Given the description of an element on the screen output the (x, y) to click on. 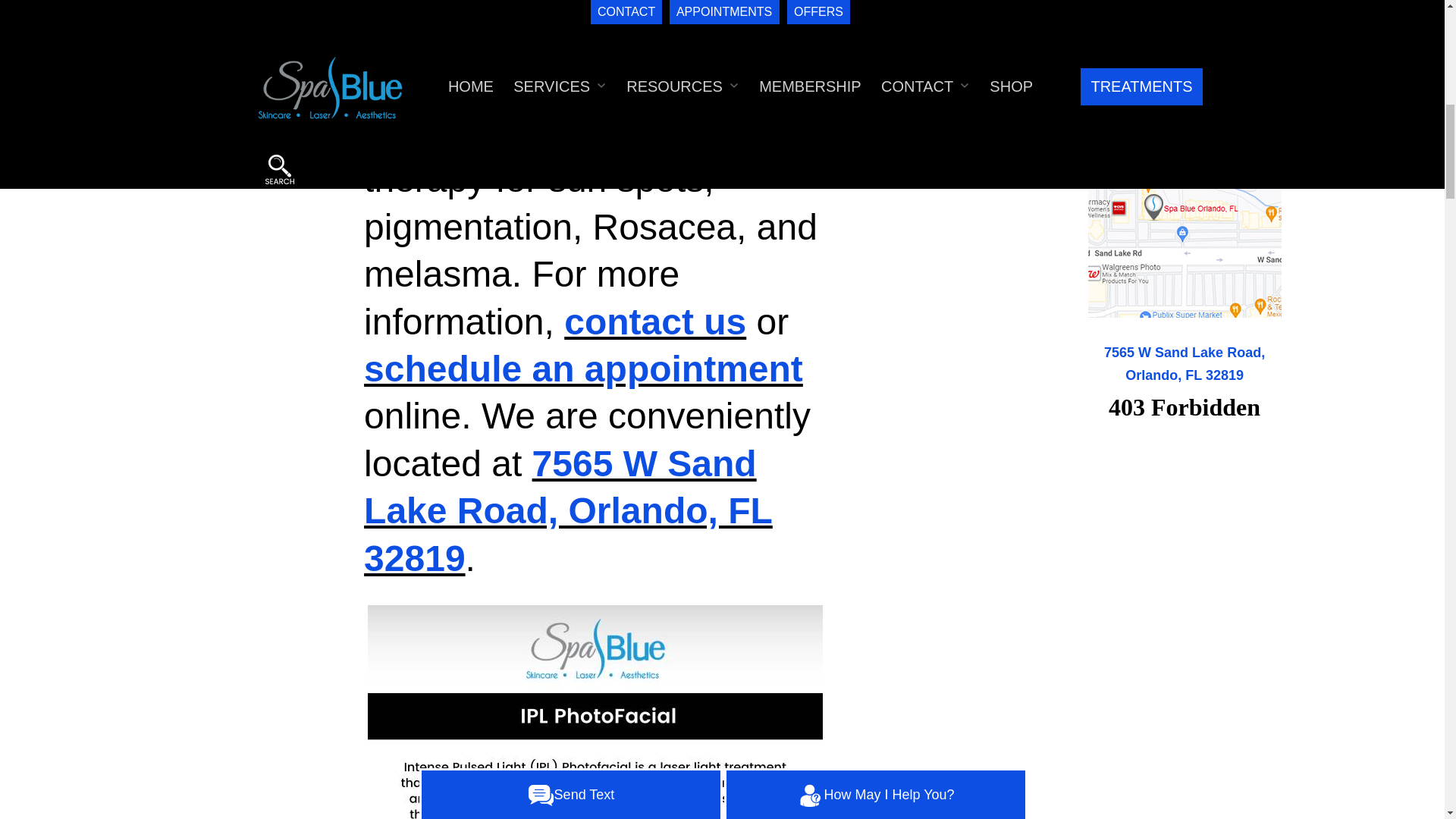
Med Spa Offers in Orlando, FL (1184, 25)
